Given the description of an element on the screen output the (x, y) to click on. 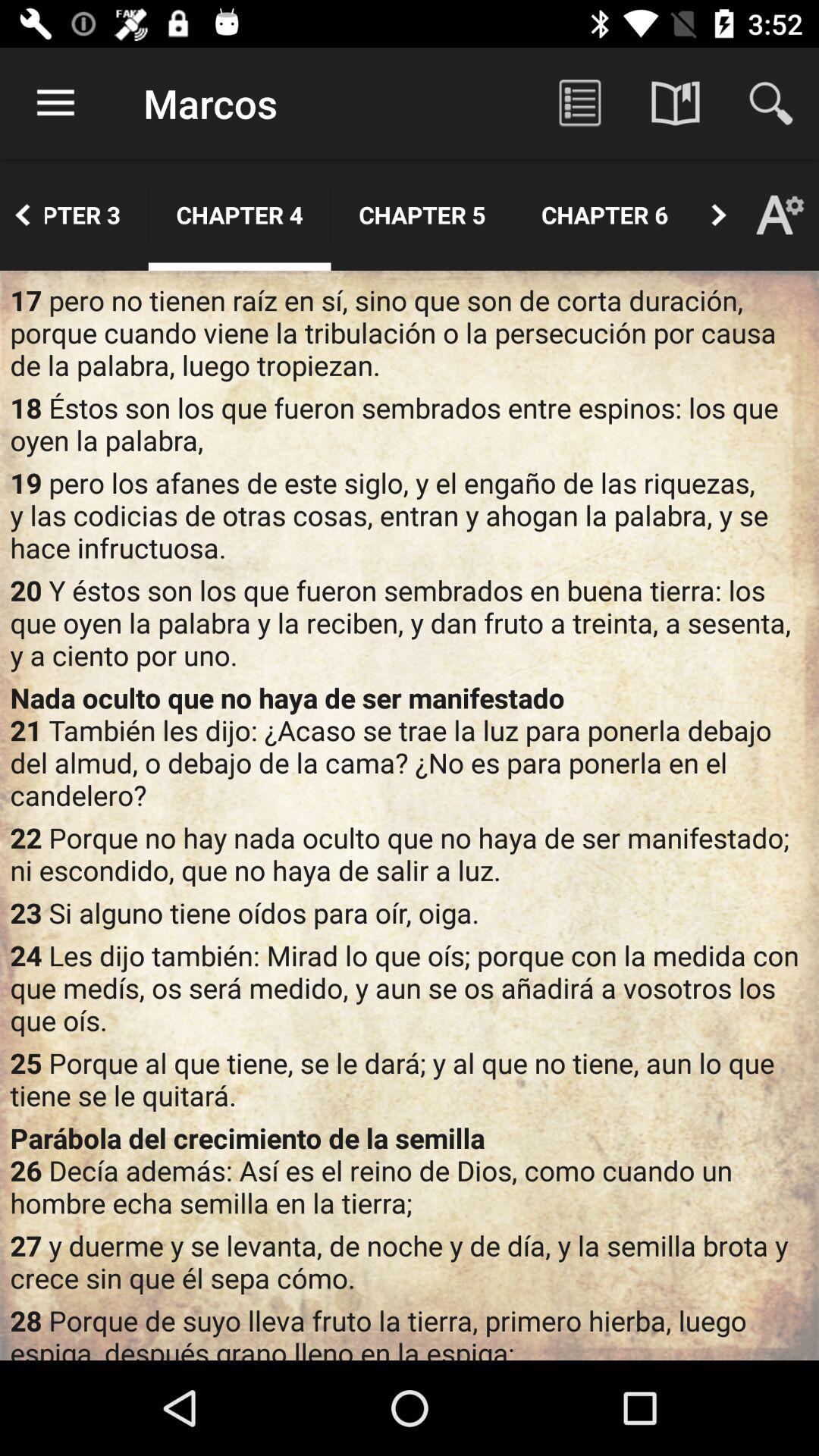
click the item above the nada oculto que (409, 622)
